Given the description of an element on the screen output the (x, y) to click on. 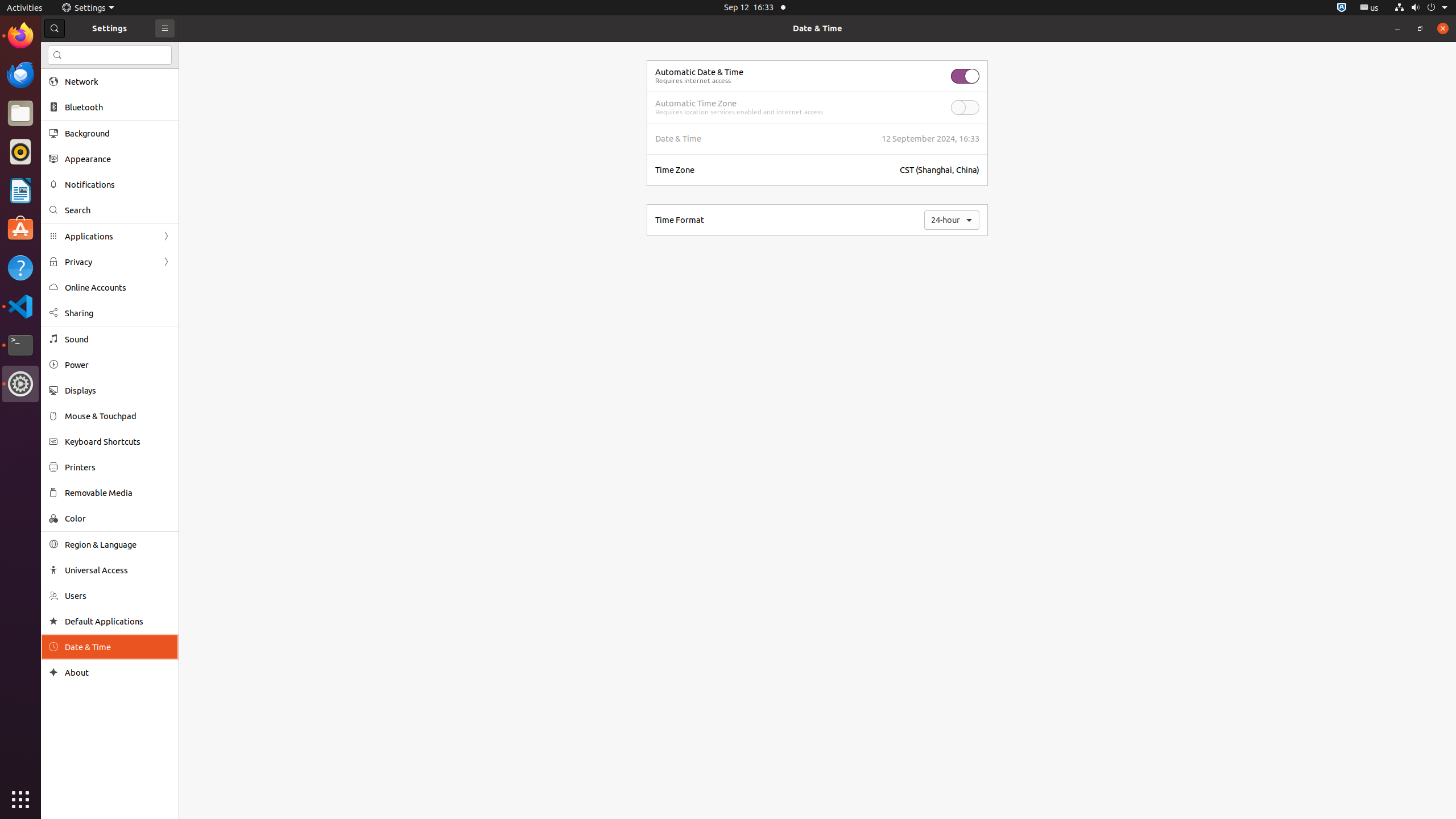
Sharing Element type: label (117, 312)
12 September 2024, 16:33 Element type: label (930, 138)
Trash Element type: label (75, 108)
Terminal Element type: push-button (20, 344)
Bluetooth Element type: label (117, 107)
